Given the description of an element on the screen output the (x, y) to click on. 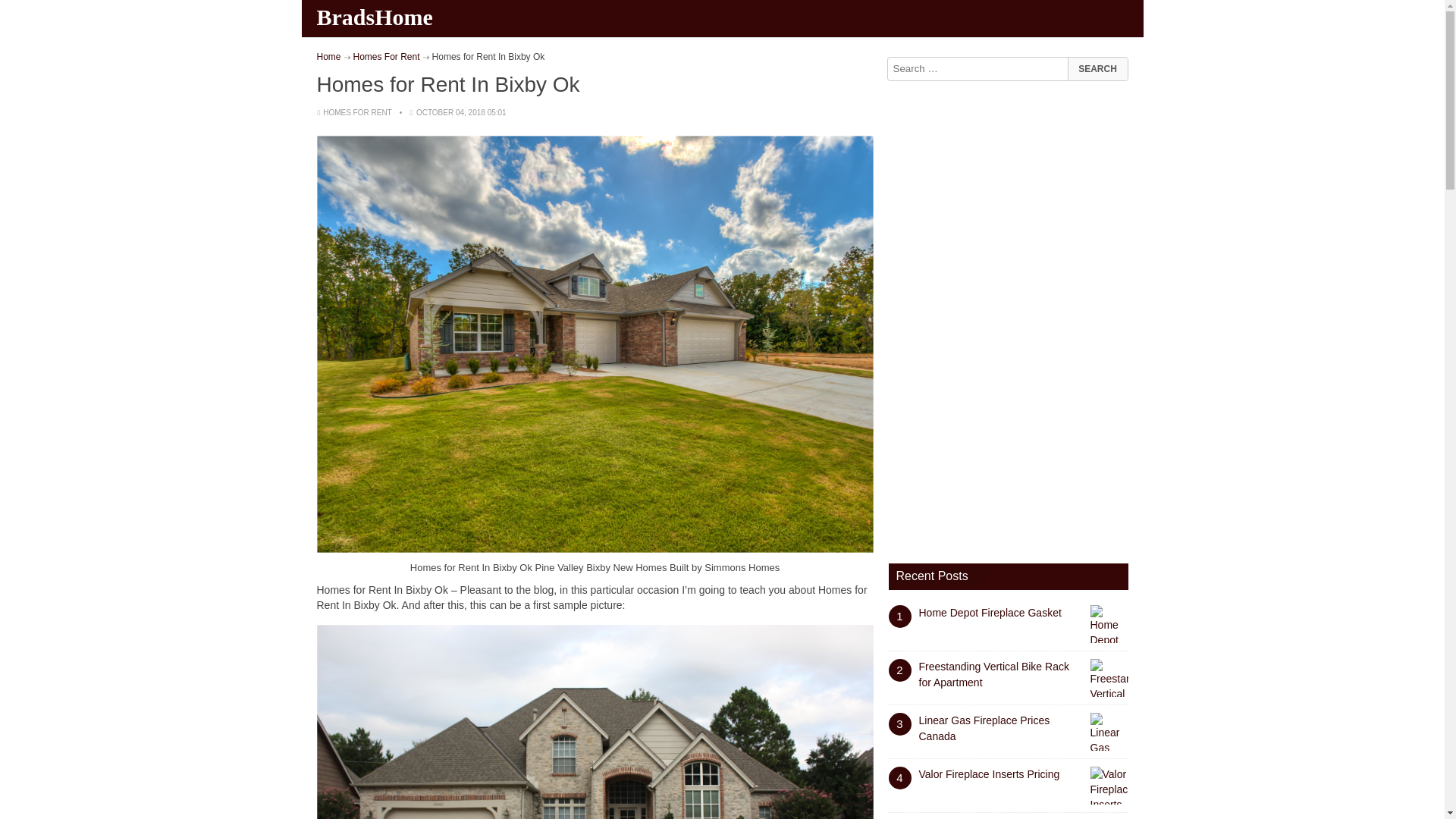
20 best apartments for rent in bixby ok with pictures (595, 721)
Home Depot Fireplace Gasket (989, 612)
Homes For Rent (386, 56)
Search (1096, 68)
Search (1096, 68)
HOMES FOR RENT (357, 112)
BradsHome (376, 16)
Home (328, 56)
Search (1096, 68)
